Given the description of an element on the screen output the (x, y) to click on. 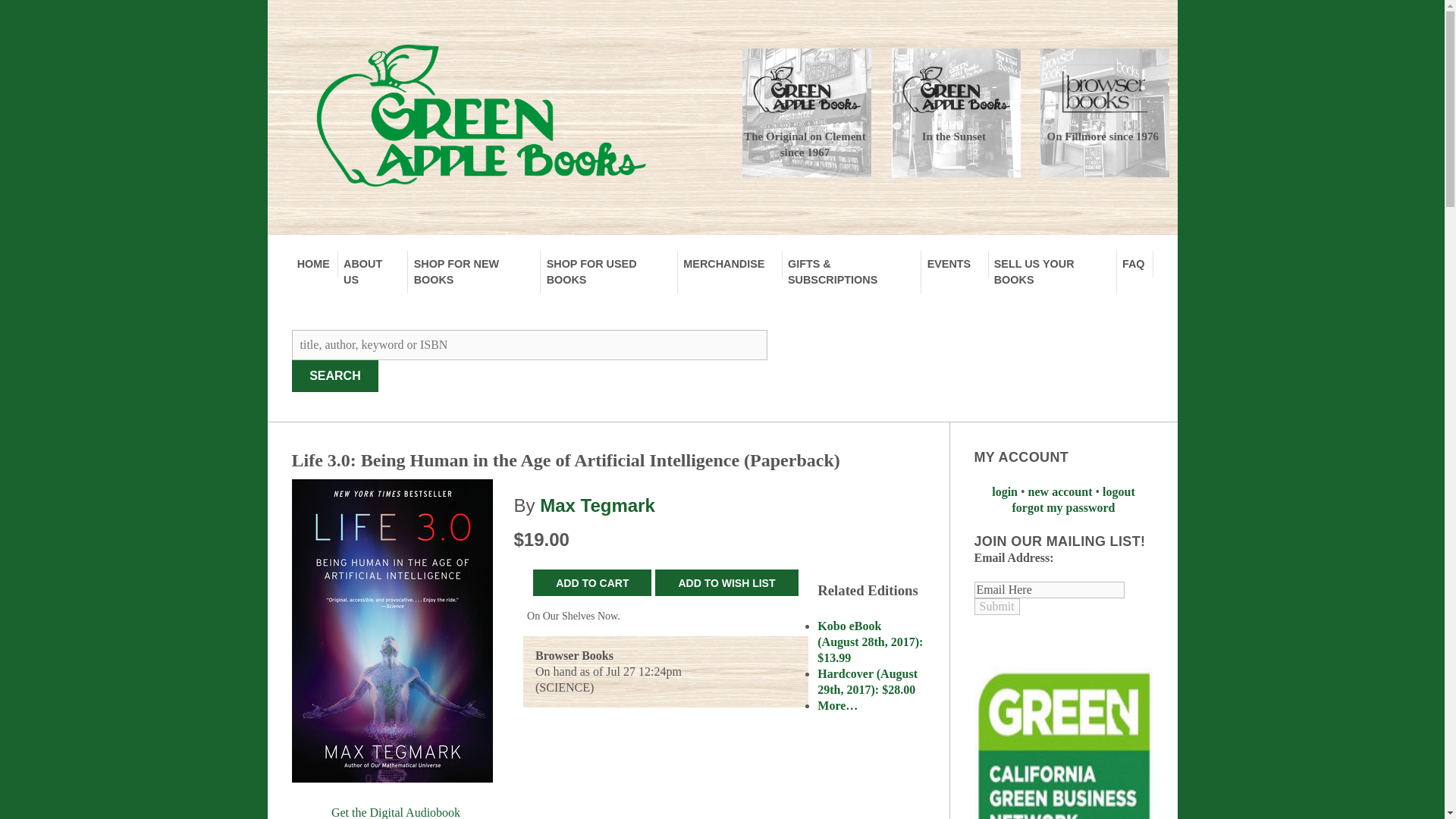
shop (473, 271)
Submit (996, 606)
Add to Cart (591, 582)
Search (334, 376)
Email Here (1049, 589)
SHOP FOR USED BOOKS (609, 271)
ABOUT US (373, 271)
MERCHANDISE (730, 263)
HOME (314, 263)
Get the Digital Audiobook (395, 812)
SHOP FOR NEW BOOKS (473, 271)
